Given the description of an element on the screen output the (x, y) to click on. 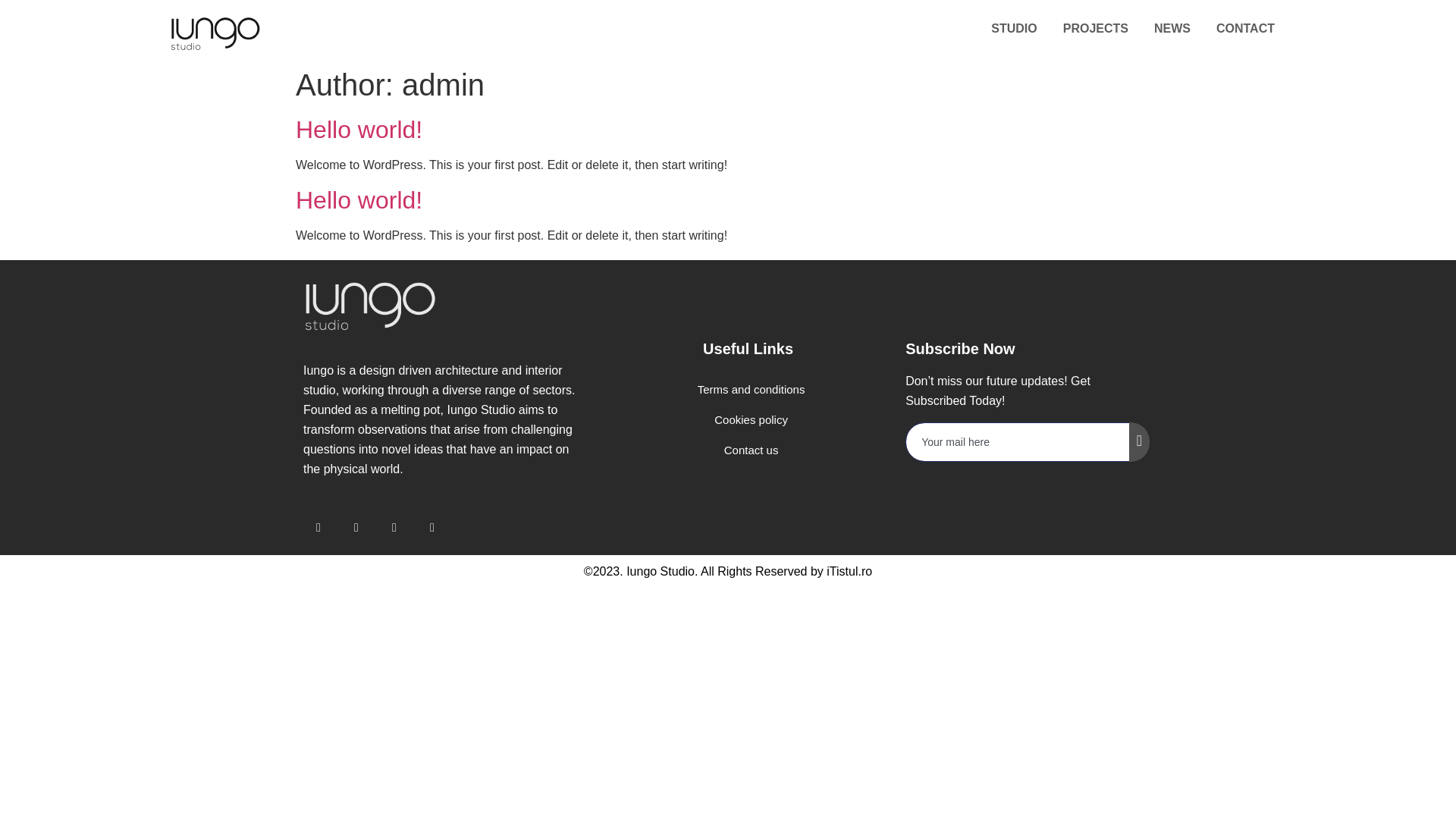
CONTACT (1245, 29)
PROJECTS (1096, 29)
Terms and conditions (748, 389)
STUDIO (1013, 29)
Cookies policy (747, 419)
Hello world! (358, 129)
Hello world! (358, 199)
NEWS (1171, 29)
Contact us (747, 450)
